Given the description of an element on the screen output the (x, y) to click on. 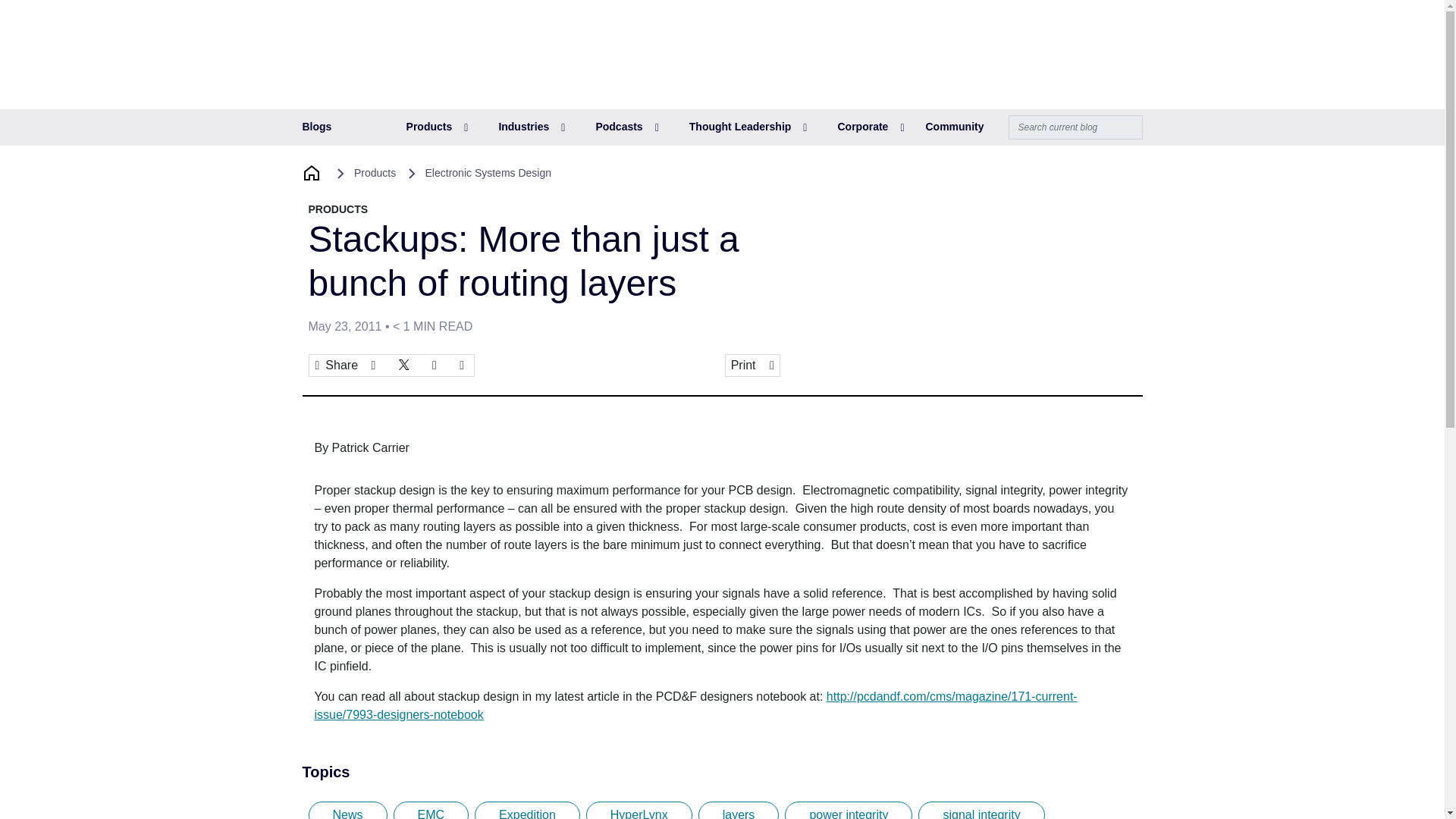
Blogs (316, 127)
Log in (1050, 31)
Products (437, 127)
Products (437, 127)
Log in (1050, 31)
